Given the description of an element on the screen output the (x, y) to click on. 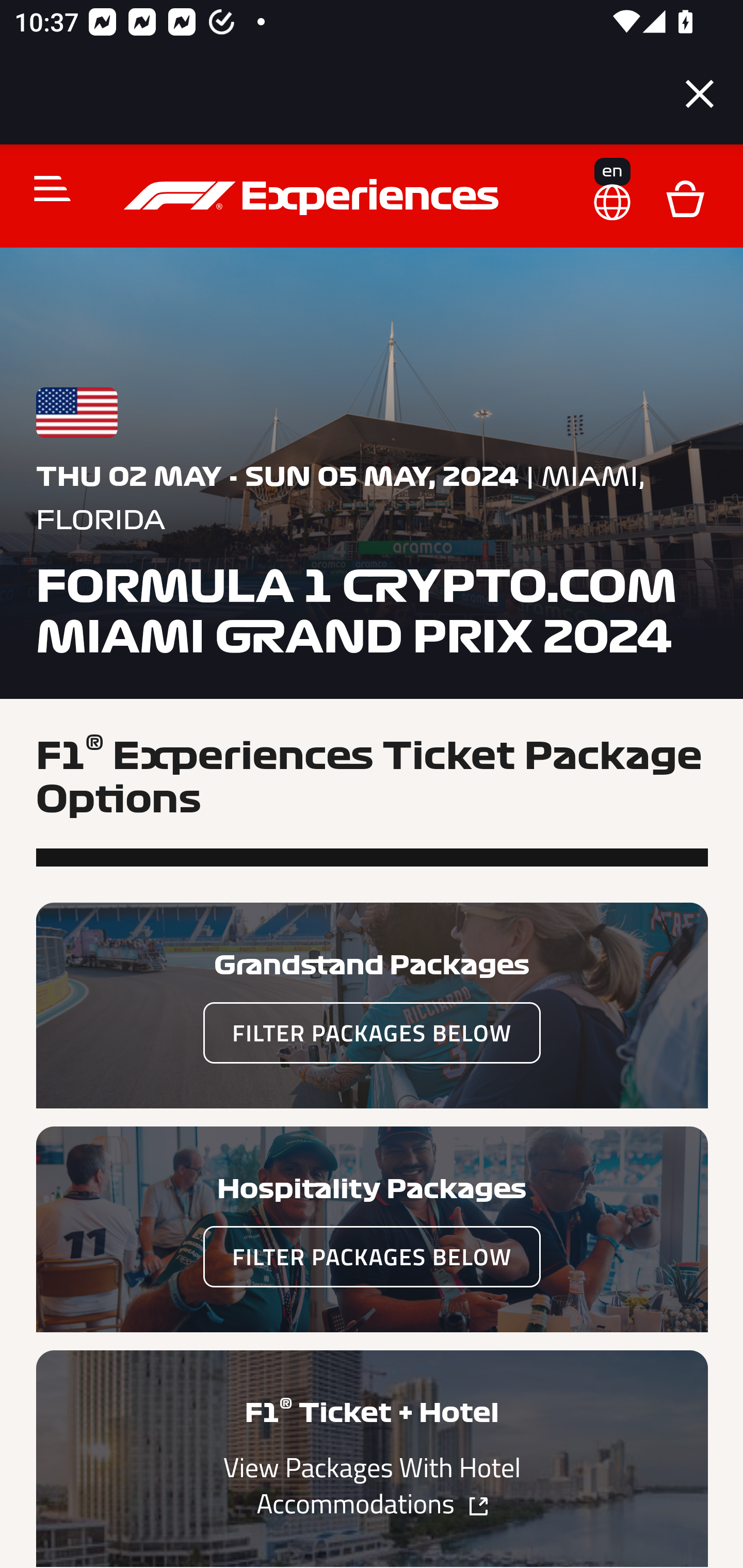
Close (699, 93)
Toggle navigation C (43, 188)
D (684, 197)
f1experiences (313, 197)
